Given the description of an element on the screen output the (x, y) to click on. 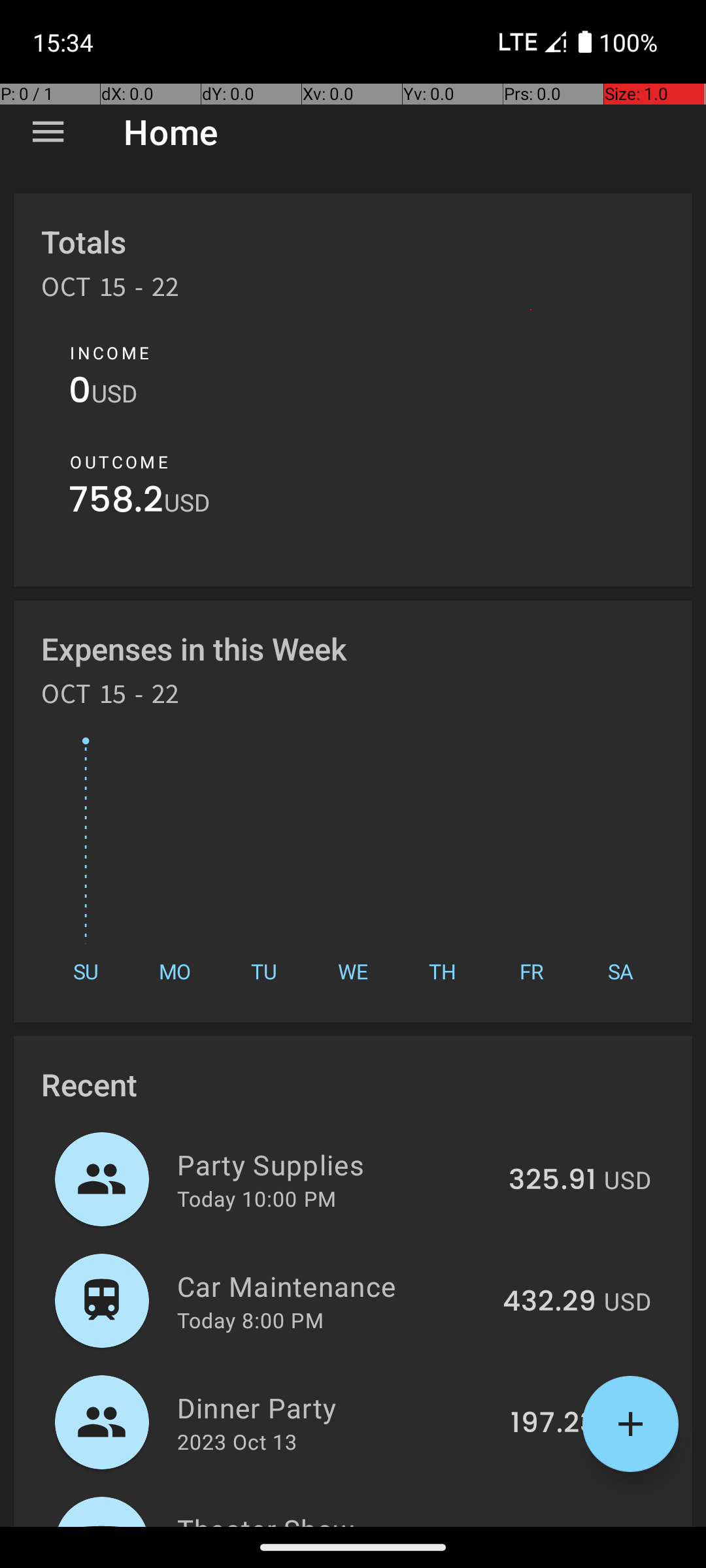
758.2 Element type: android.widget.TextView (116, 502)
325.91 Element type: android.widget.TextView (551, 1180)
Car Maintenance Element type: android.widget.TextView (332, 1285)
432.29 Element type: android.widget.TextView (549, 1301)
Dinner Party Element type: android.widget.TextView (336, 1407)
197.23 Element type: android.widget.TextView (552, 1423)
Theater Show Element type: android.widget.TextView (331, 1518)
353.52 Element type: android.widget.TextView (548, 1524)
